Given the description of an element on the screen output the (x, y) to click on. 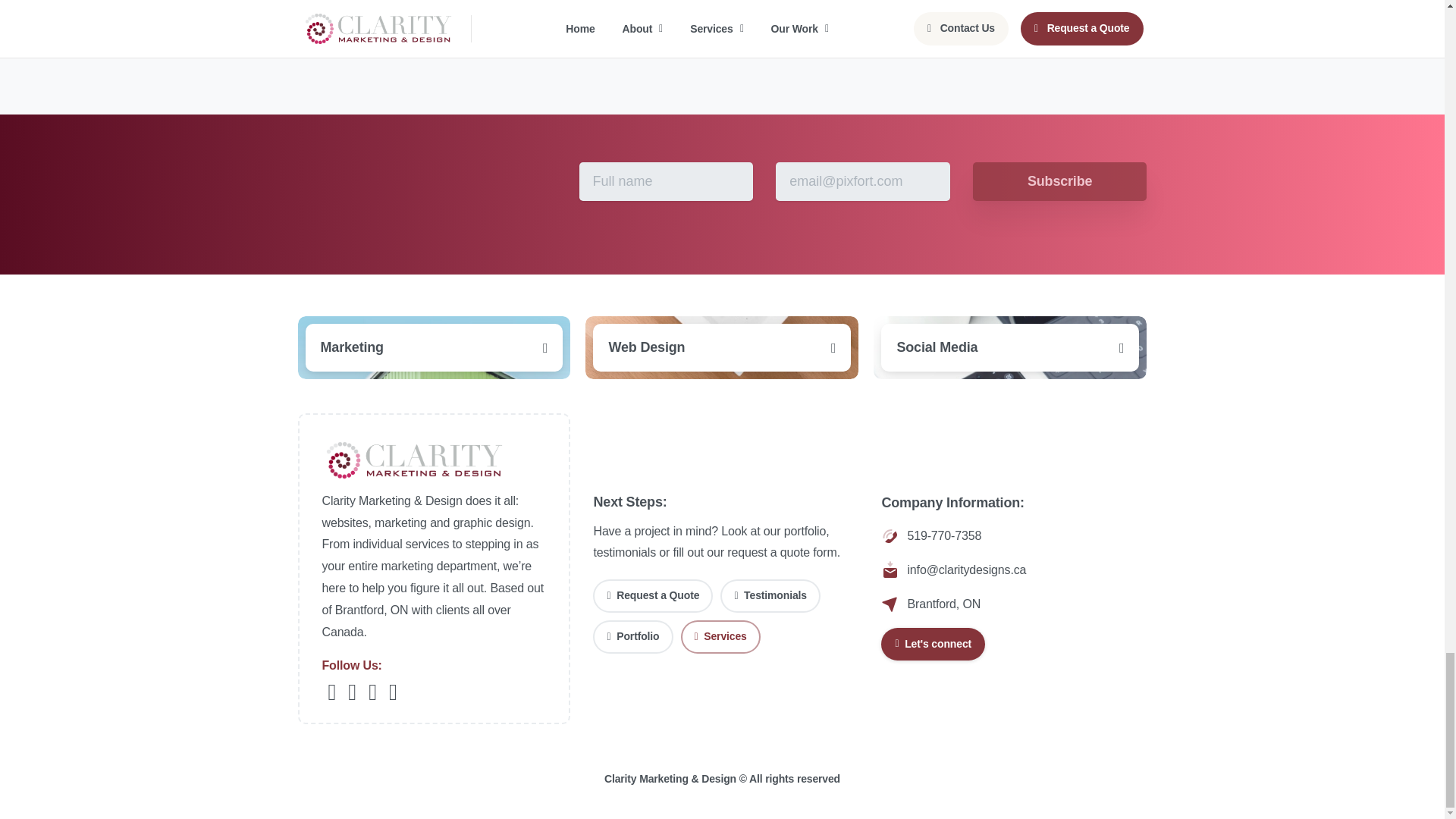
Subscribe (1059, 181)
